Given the description of an element on the screen output the (x, y) to click on. 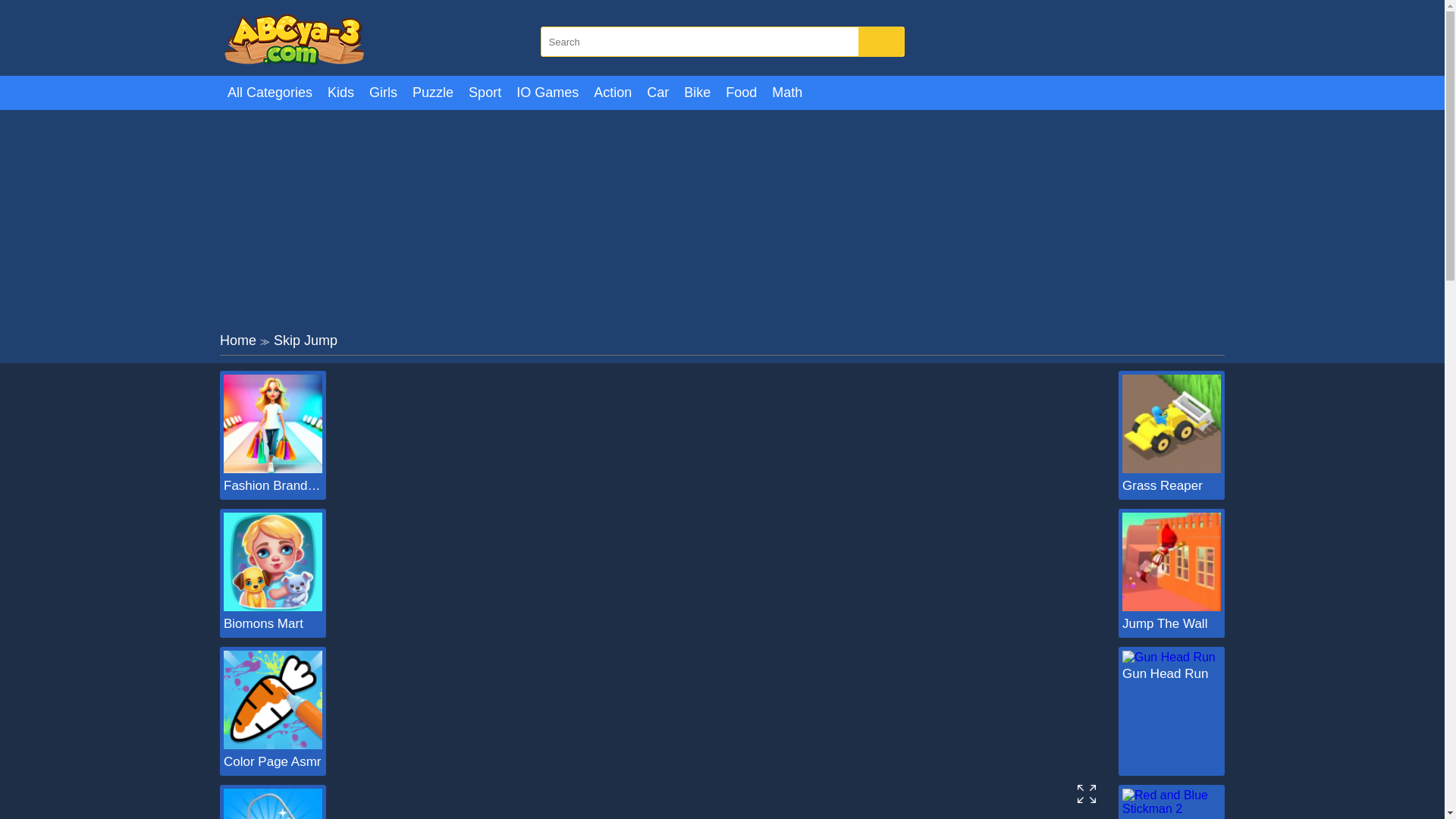
Sport (484, 92)
Fashion Brand 3D (272, 485)
IO Games (547, 92)
Math (786, 92)
Food (740, 92)
Fashion Brand 3D (272, 485)
Bike (697, 92)
Biomons Mart (272, 606)
Color Page Asmr (272, 761)
Sport (484, 92)
Biomons Mart (272, 623)
All Categories (269, 92)
Kids (340, 92)
Home (237, 340)
